Given the description of an element on the screen output the (x, y) to click on. 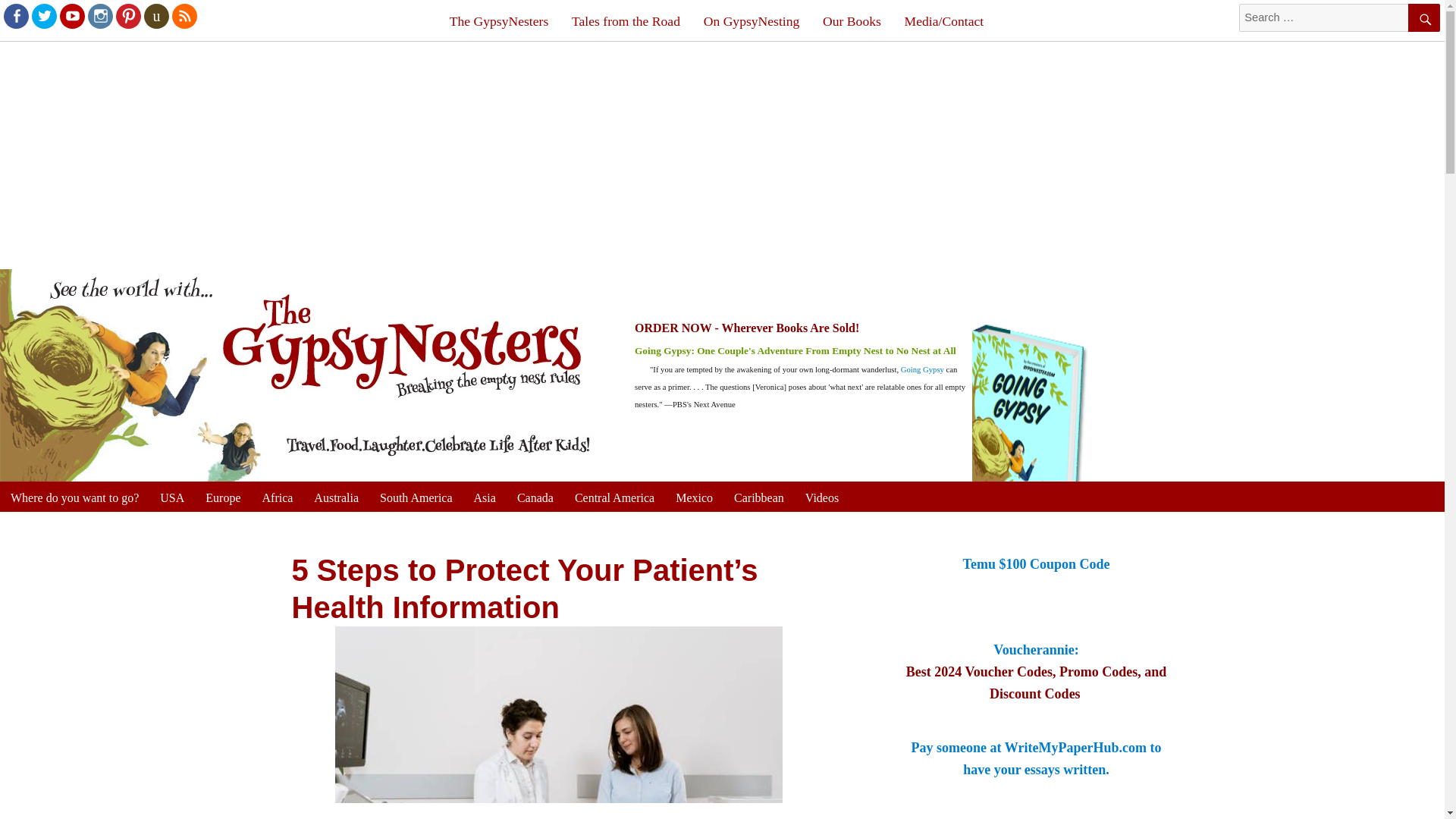
USA (172, 497)
Youtube (70, 15)
Our Books (851, 21)
Going Gypsy:  (665, 350)
Tales from the Road (626, 21)
Goodreads (155, 15)
On GypsyNesting (750, 21)
SEARCH (1423, 17)
Twitter (43, 15)
